Given the description of an element on the screen output the (x, y) to click on. 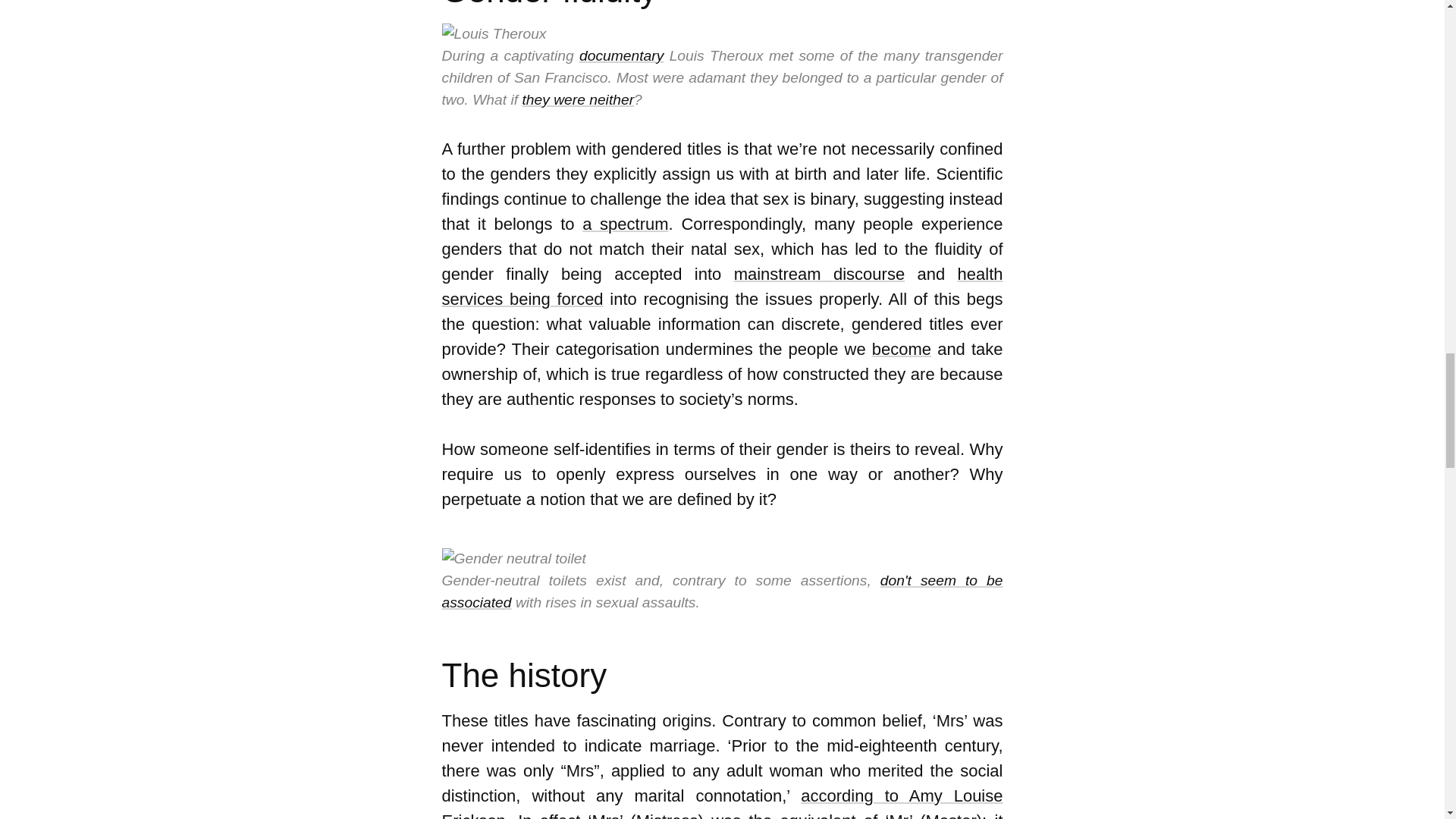
according to Amy Louise Erickson (722, 802)
health services being forced (722, 286)
become (901, 348)
documentary (621, 55)
a spectrum (625, 223)
don't seem to be associated (722, 591)
mainstream discourse (818, 273)
they were neither (577, 99)
